Given the description of an element on the screen output the (x, y) to click on. 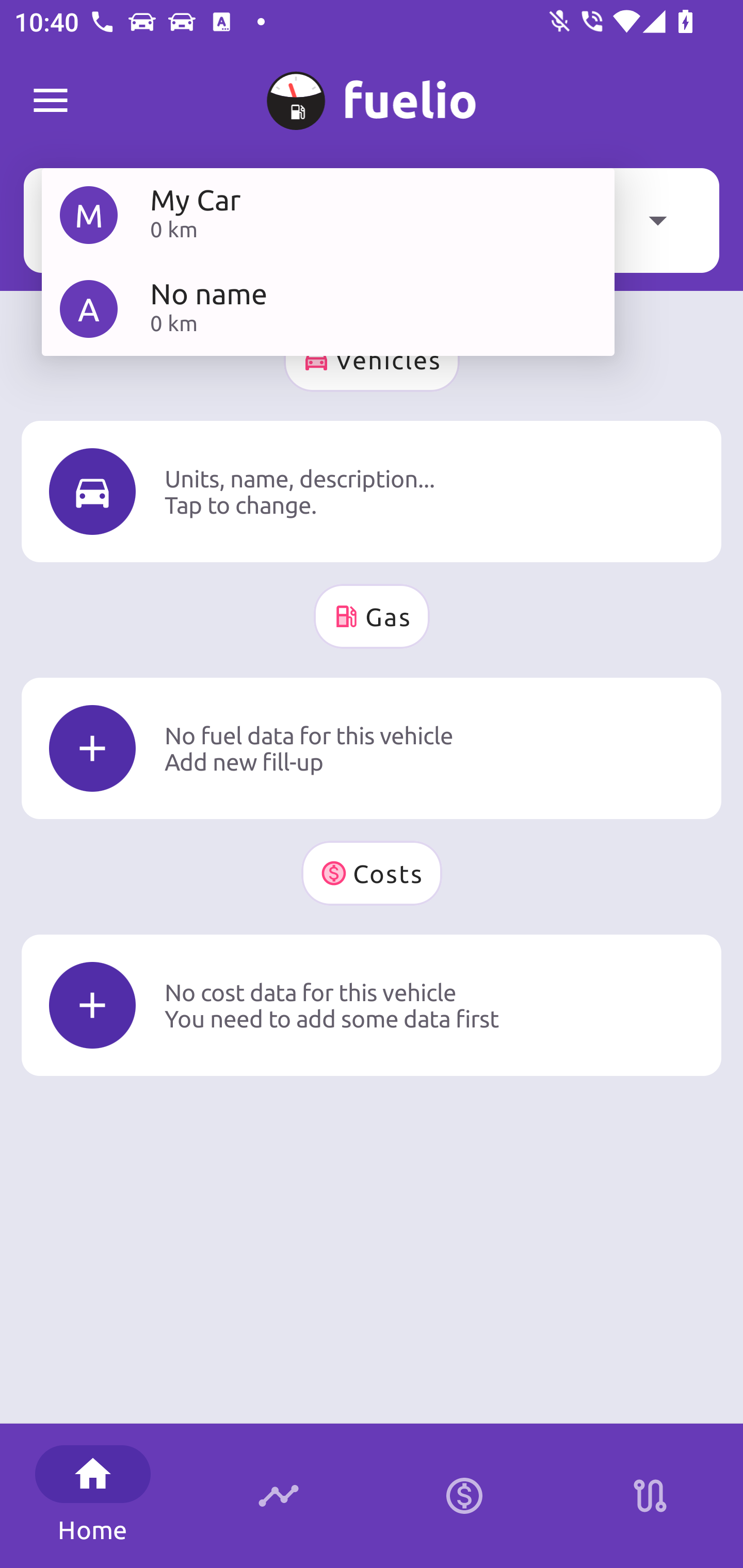
M My Car 0 km (327, 214)
A No name 0 km (327, 308)
